Given the description of an element on the screen output the (x, y) to click on. 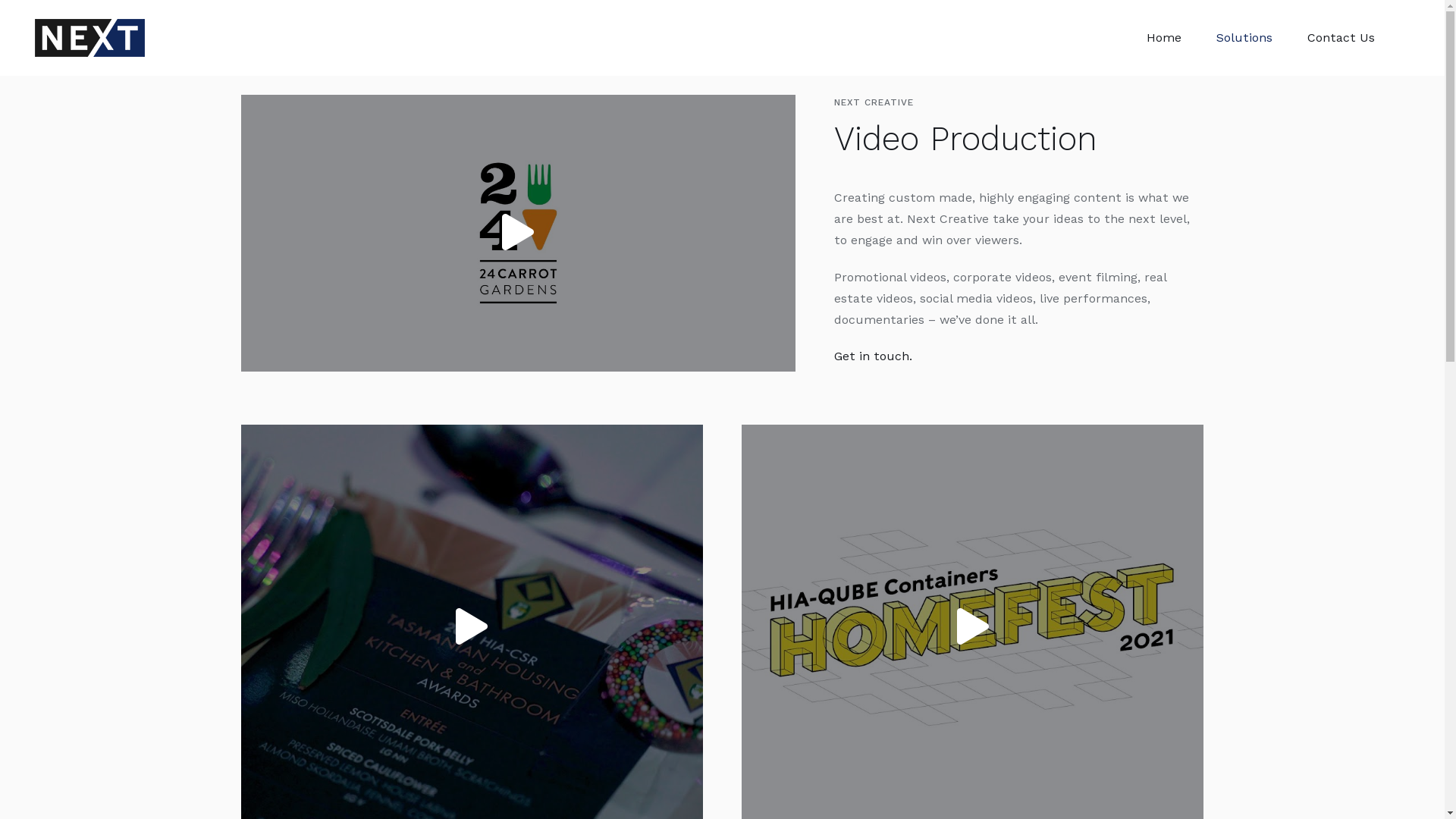
Contact Us Element type: text (1340, 37)
Solutions Element type: text (1244, 37)
Home Element type: text (1163, 37)
Get in touch. Element type: text (873, 355)
